Given the description of an element on the screen output the (x, y) to click on. 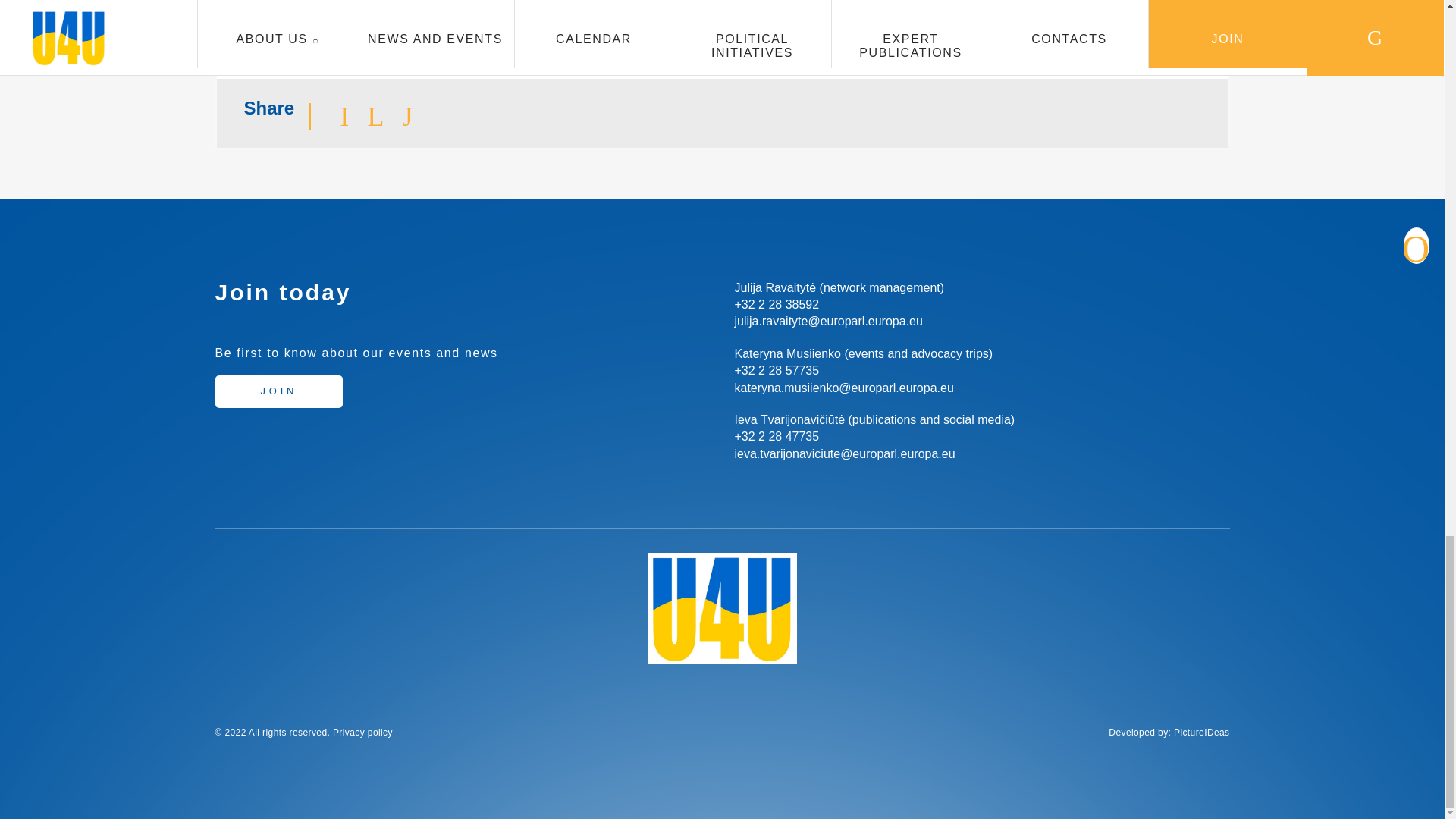
JOIN (279, 391)
PictureIDeas (1201, 733)
Privacy policy (363, 733)
